Given the description of an element on the screen output the (x, y) to click on. 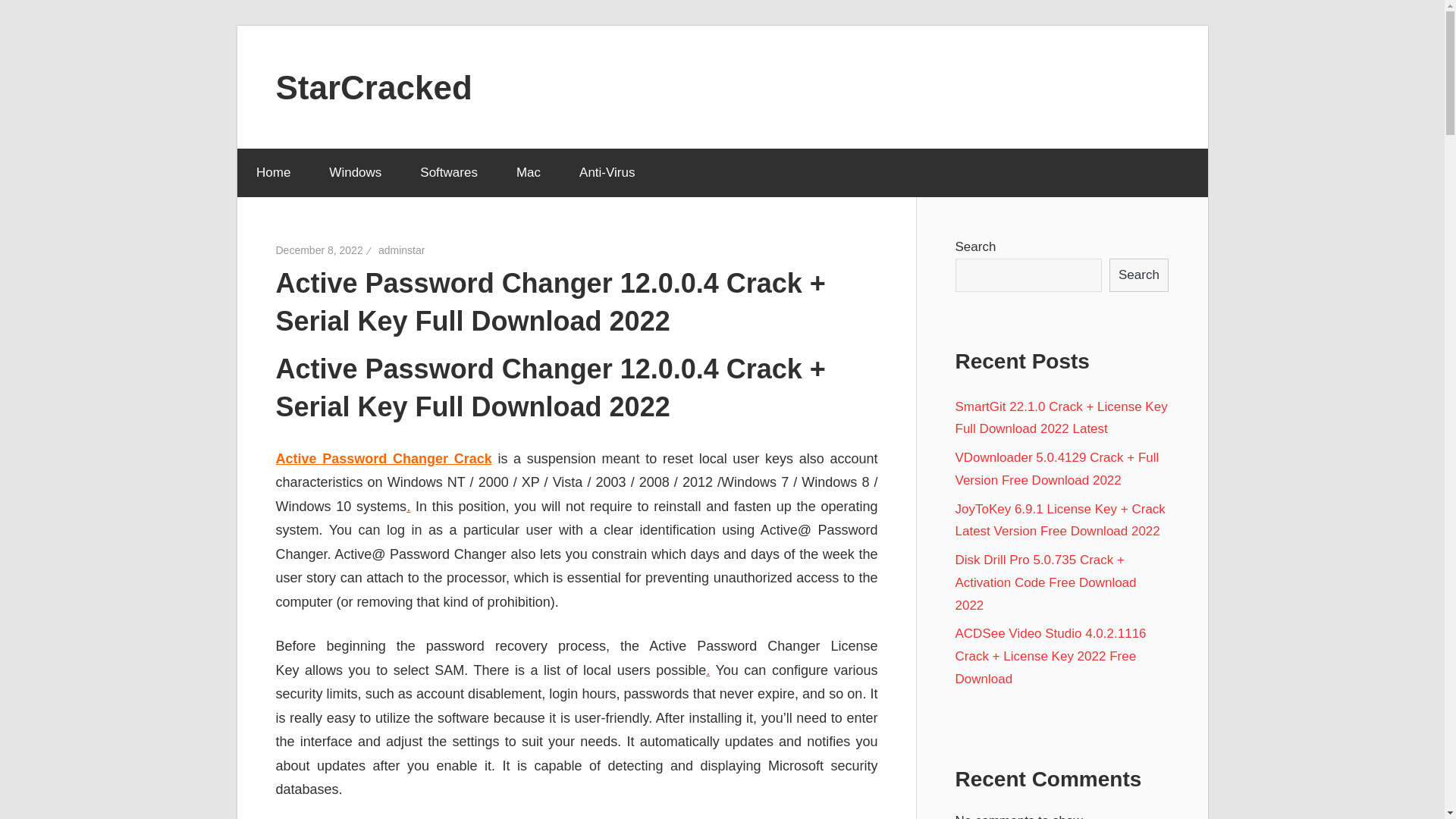
Mac (527, 172)
Windows (355, 172)
Home (271, 172)
Anti-Virus (606, 172)
StarCracked (373, 86)
View all posts by adminstar (401, 250)
Softwares (449, 172)
adminstar (401, 250)
8:25 am (319, 250)
